Given the description of an element on the screen output the (x, y) to click on. 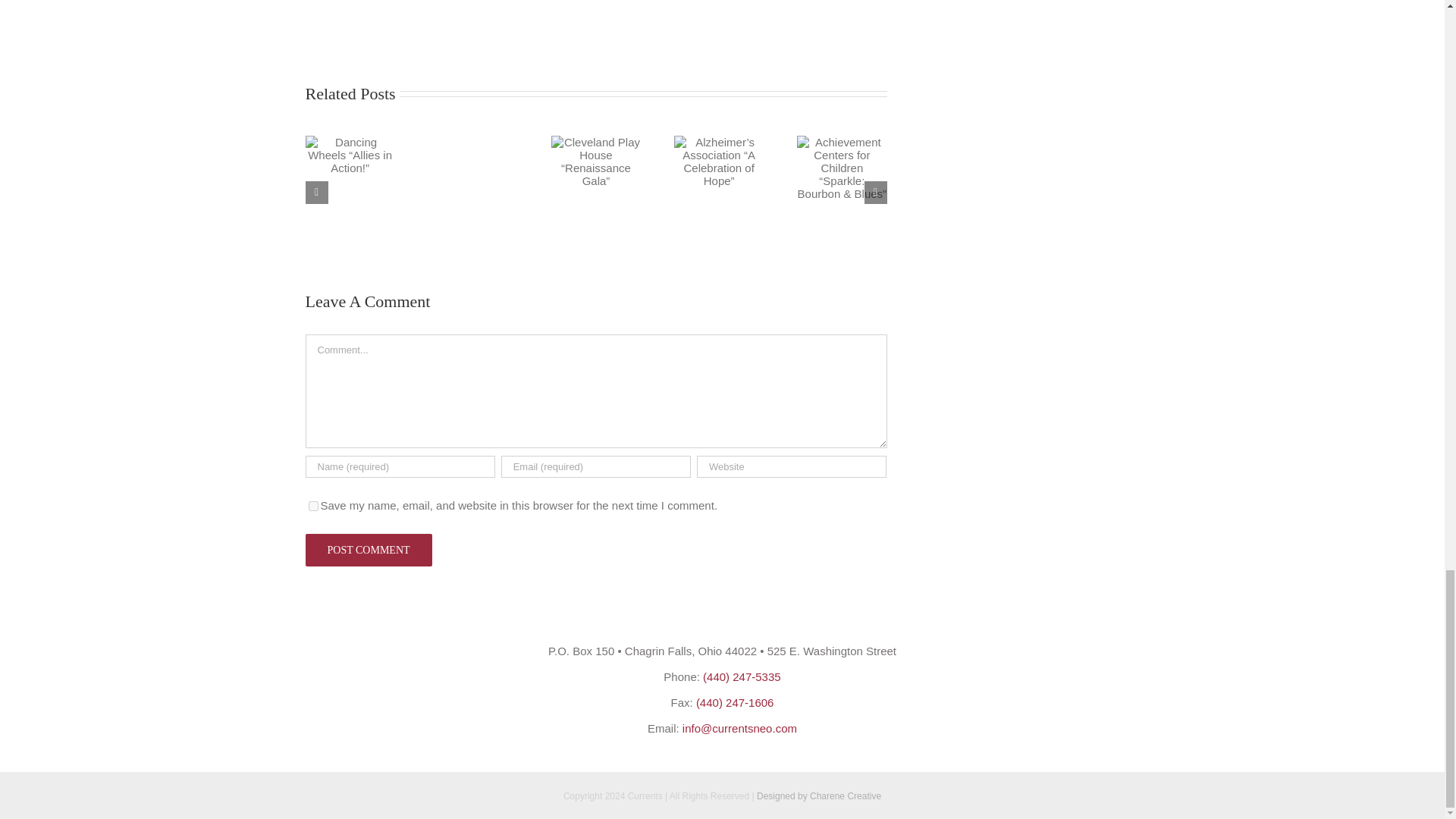
yes (312, 506)
Post Comment (367, 549)
